Given the description of an element on the screen output the (x, y) to click on. 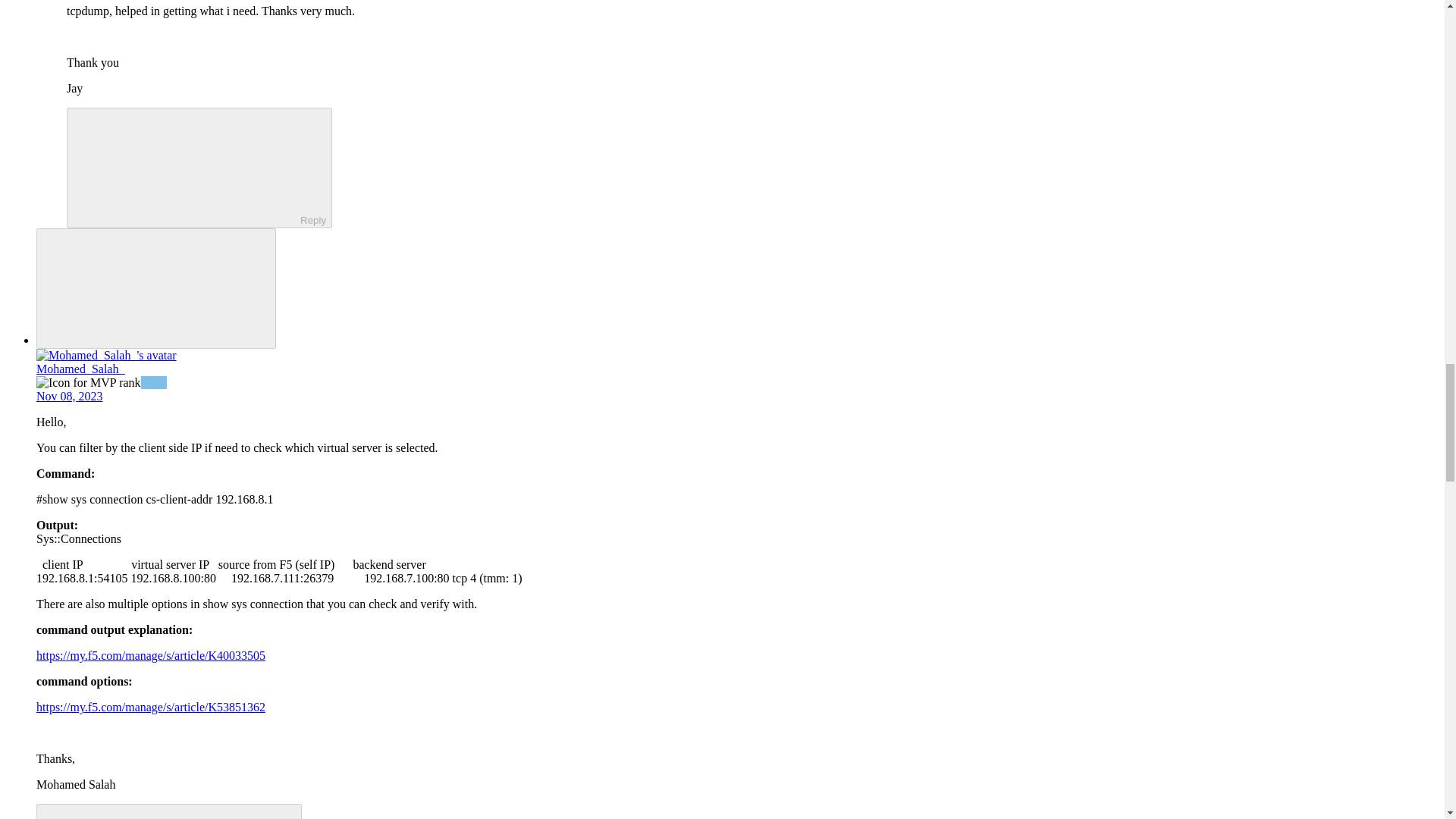
November 8, 2023 at 12:25 PM (69, 395)
Reply (185, 166)
Reply (155, 812)
